Given the description of an element on the screen output the (x, y) to click on. 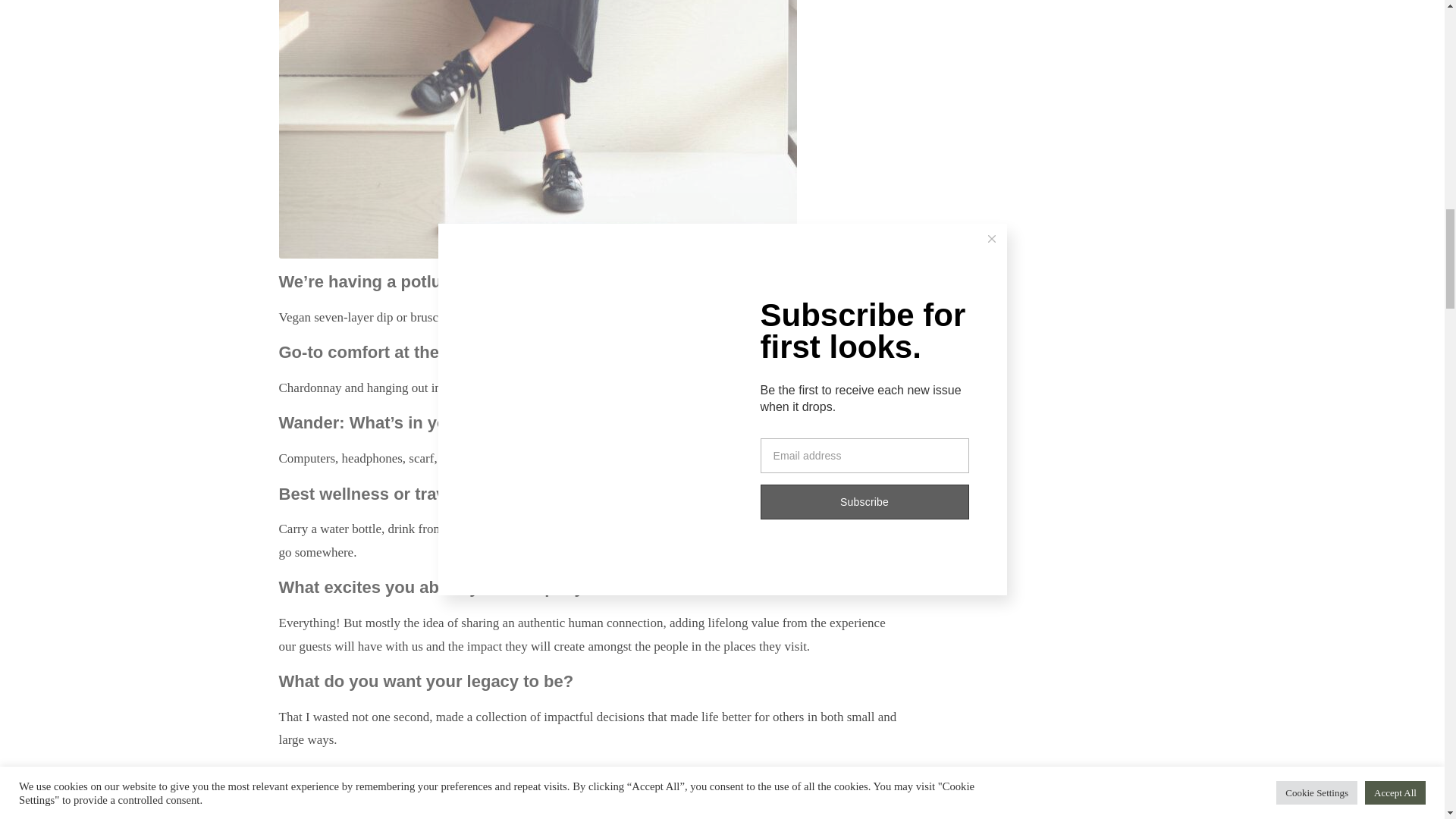
FALL 2019 (308, 798)
